Given the description of an element on the screen output the (x, y) to click on. 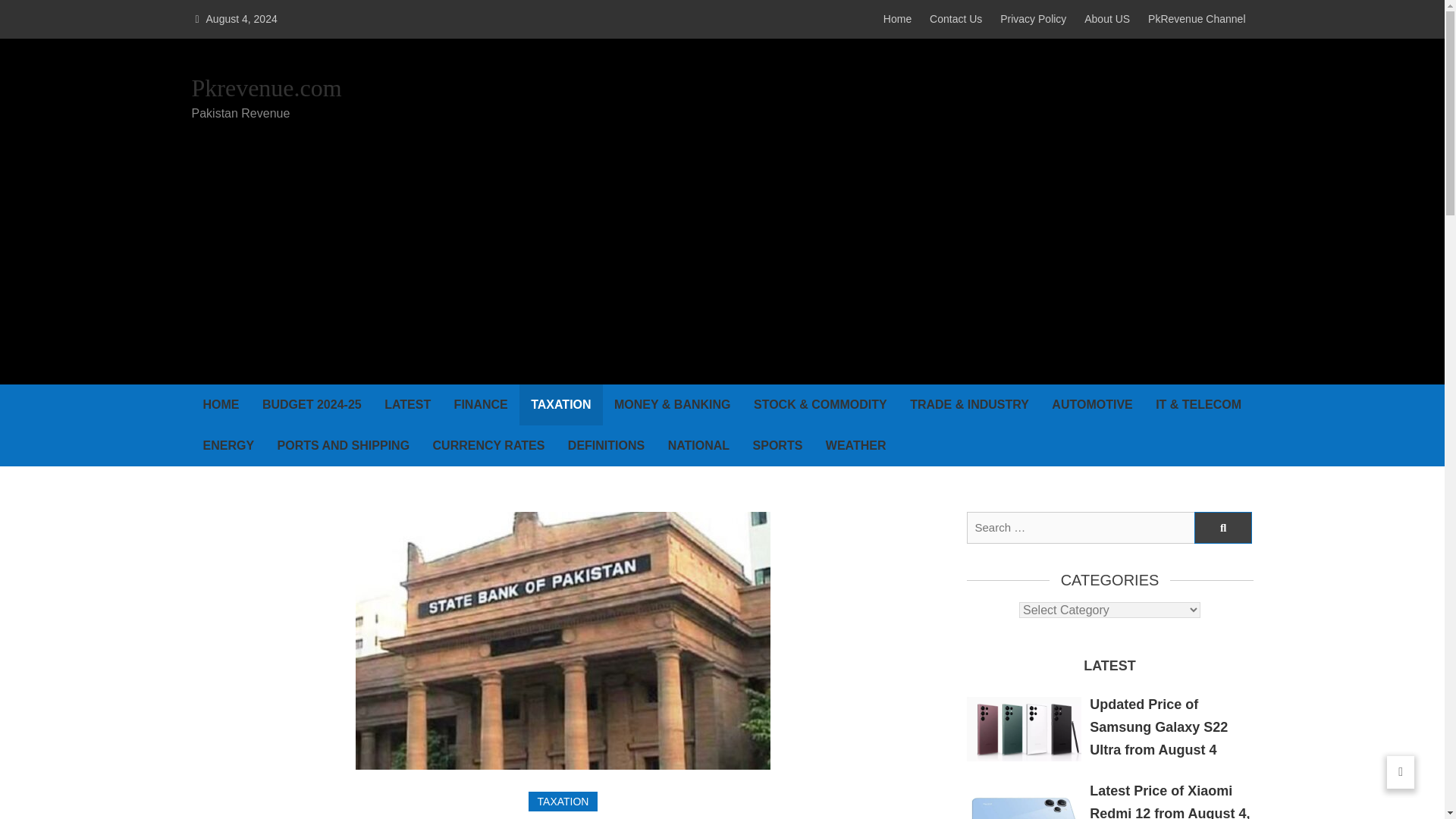
HOME (220, 404)
PORTS AND SHIPPING (344, 445)
BUDGET 2024-25 (311, 404)
CURRENCY RATES (489, 445)
Home (897, 19)
Updated Price of Samsung Galaxy S22 Ultra from August 4 (1158, 726)
Privacy Policy (1032, 19)
WEATHER (855, 445)
PkRevenue Channel (1196, 19)
TAXATION (563, 801)
LATEST (407, 404)
About US (1106, 19)
NATIONAL (698, 445)
Contact Us (955, 19)
Pkrevenue.com (265, 88)
